Given the description of an element on the screen output the (x, y) to click on. 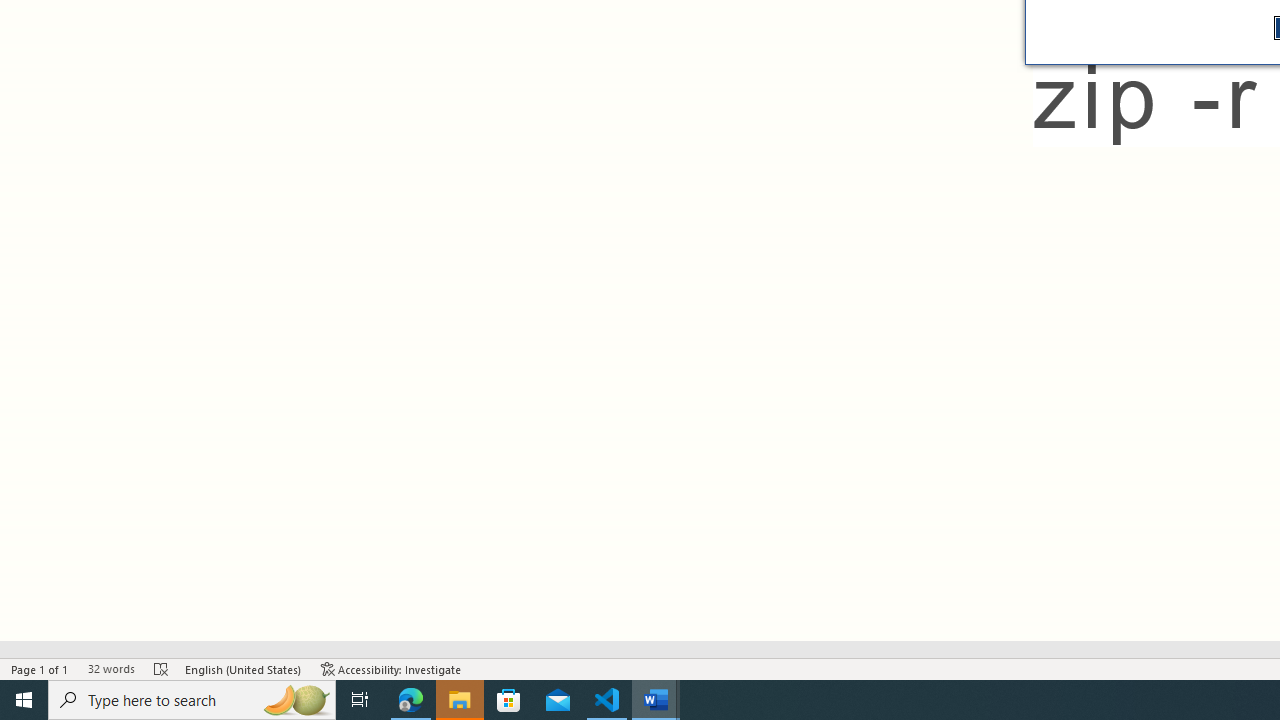
Microsoft Edge - 1 running window (411, 699)
Page Number Page 1 of 1 (39, 668)
Word Count 32 words (111, 668)
